Given the description of an element on the screen output the (x, y) to click on. 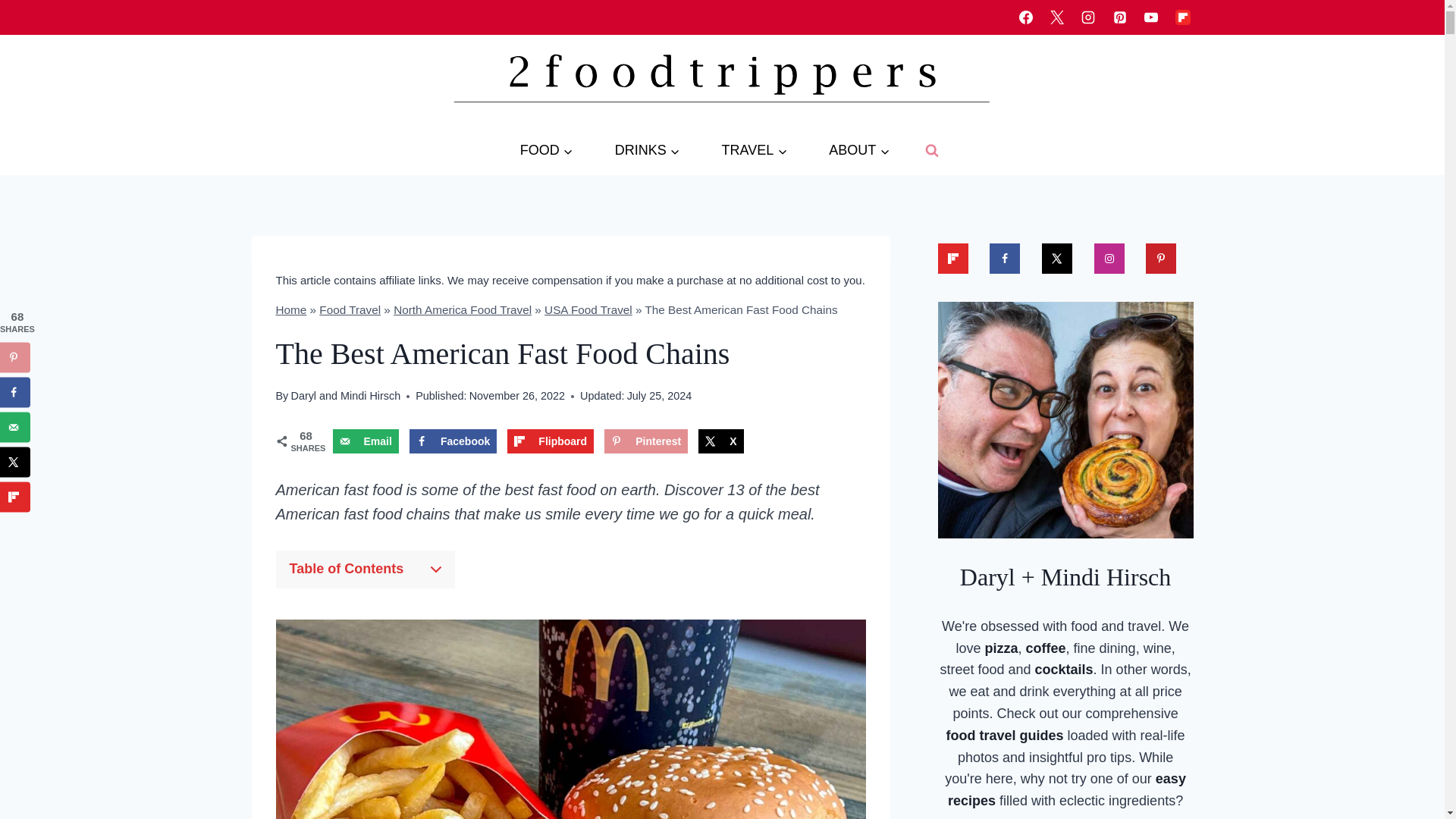
Share on X (720, 441)
DRINKS (647, 150)
Share on Facebook (452, 441)
TRAVEL (754, 150)
ABOUT (859, 150)
FOOD (546, 150)
Save to Pinterest (645, 441)
Send over email (364, 441)
Share on Flipboard (550, 441)
